Given the description of an element on the screen output the (x, y) to click on. 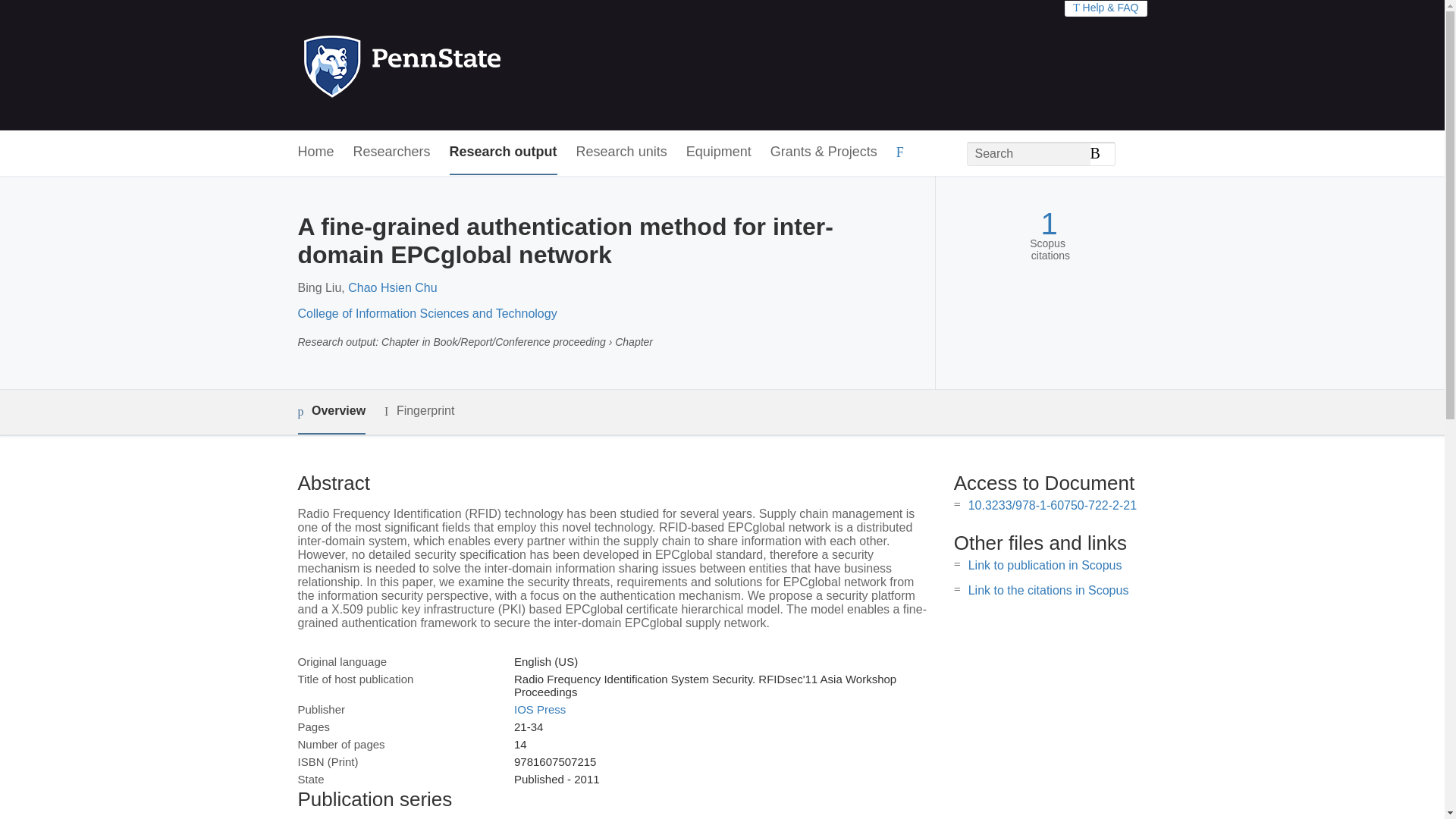
Overview (331, 411)
Link to publication in Scopus (1045, 564)
Link to the citations in Scopus (1048, 590)
Chao Hsien Chu (391, 287)
Research output (503, 152)
Equipment (718, 152)
Fingerprint (419, 411)
Penn State Home (467, 65)
Research units (621, 152)
Researchers (391, 152)
College of Information Sciences and Technology (426, 313)
IOS Press (539, 708)
